Given the description of an element on the screen output the (x, y) to click on. 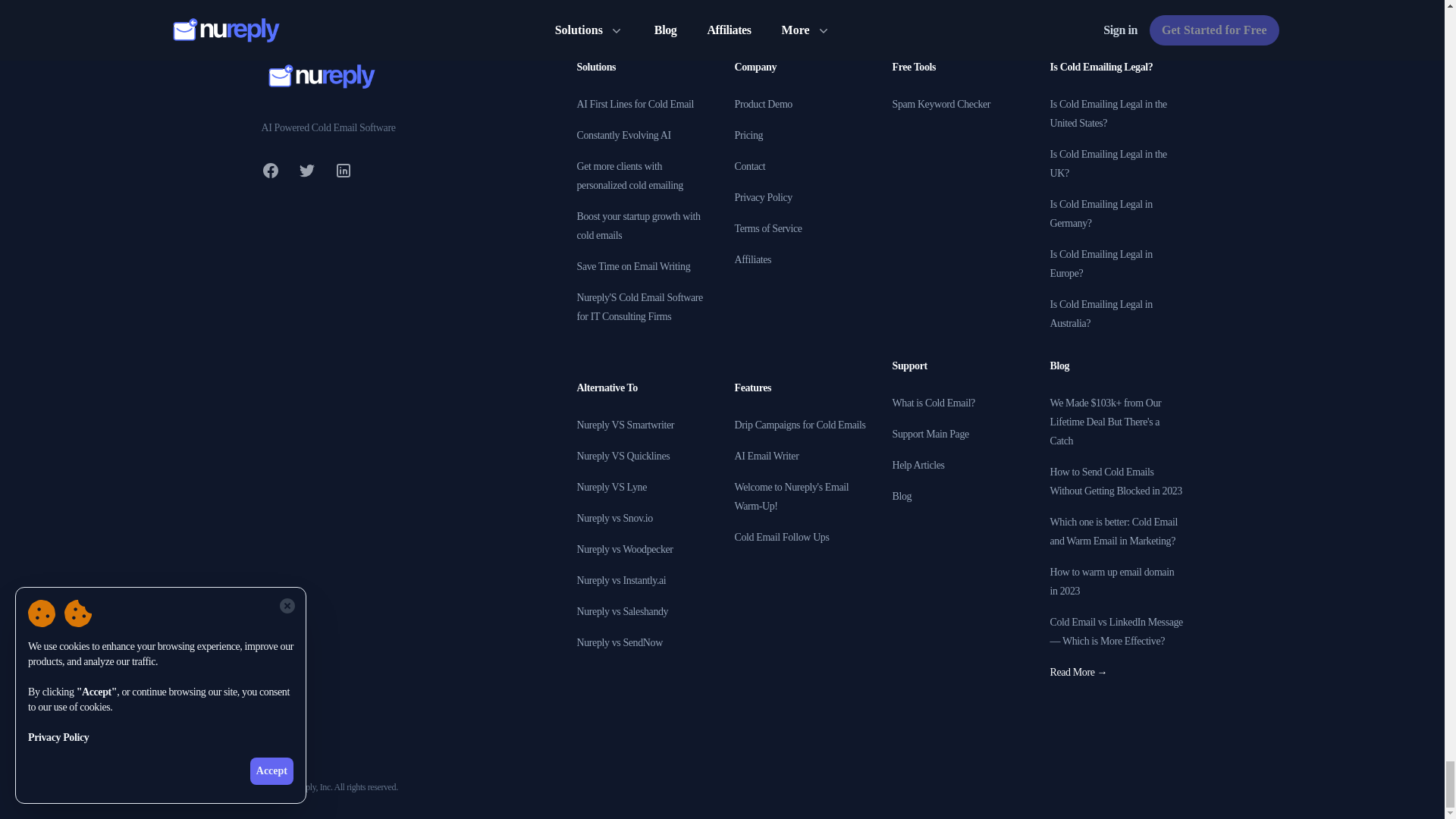
LinkedIn (342, 170)
Affiliates (752, 259)
Alternative To (606, 387)
Nureply'S Cold Email Software for IT Consulting Firms (638, 306)
Contact (749, 165)
Save Time on Email Writing (633, 266)
Nureply VS Smartwriter (625, 424)
Constantly Evolving AI (622, 134)
Facebook (269, 170)
Solutions (595, 66)
